Given the description of an element on the screen output the (x, y) to click on. 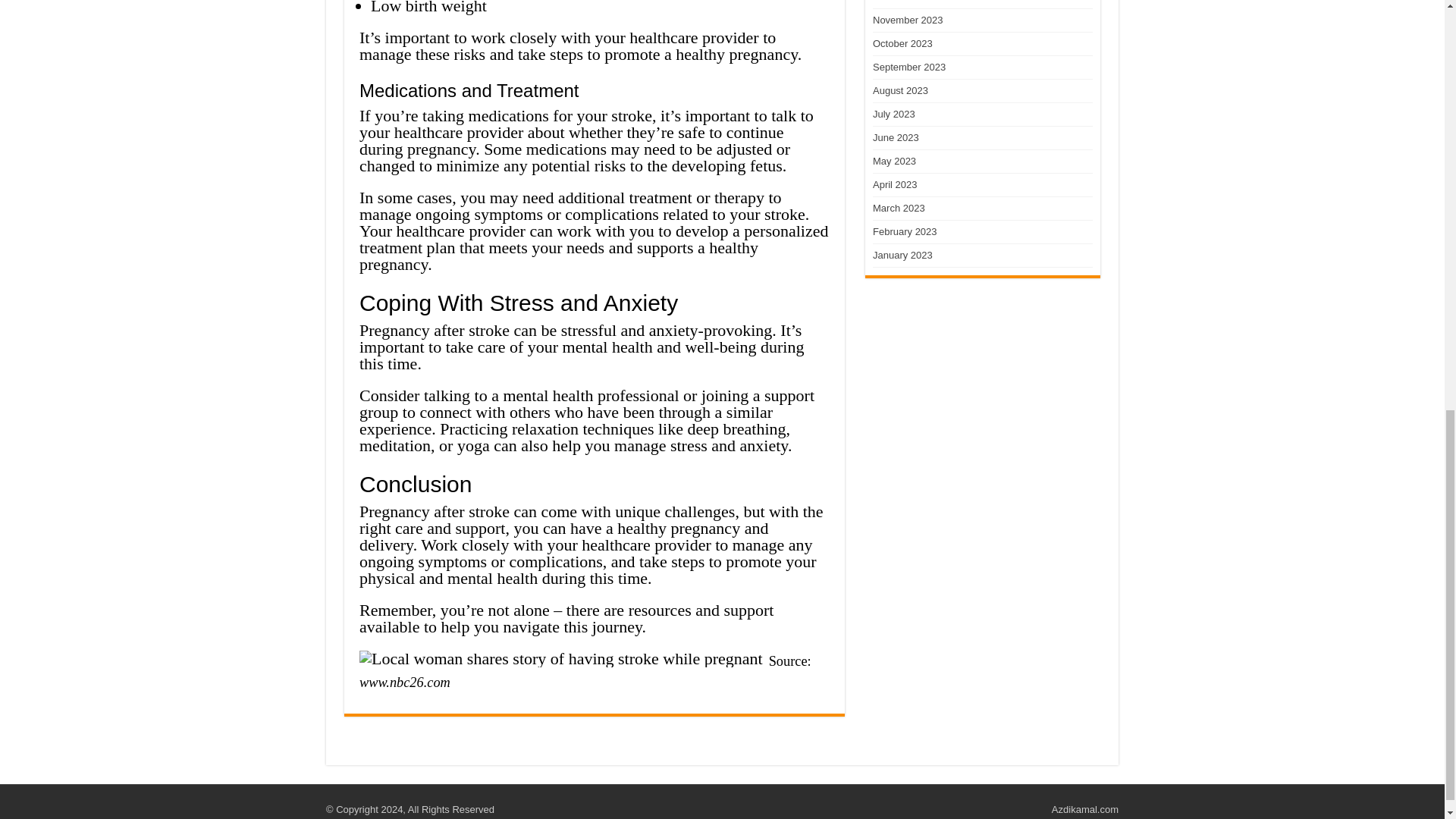
November 2023 (907, 19)
September 2023 (908, 66)
December 2023 (907, 1)
October 2023 (902, 43)
